Given the description of an element on the screen output the (x, y) to click on. 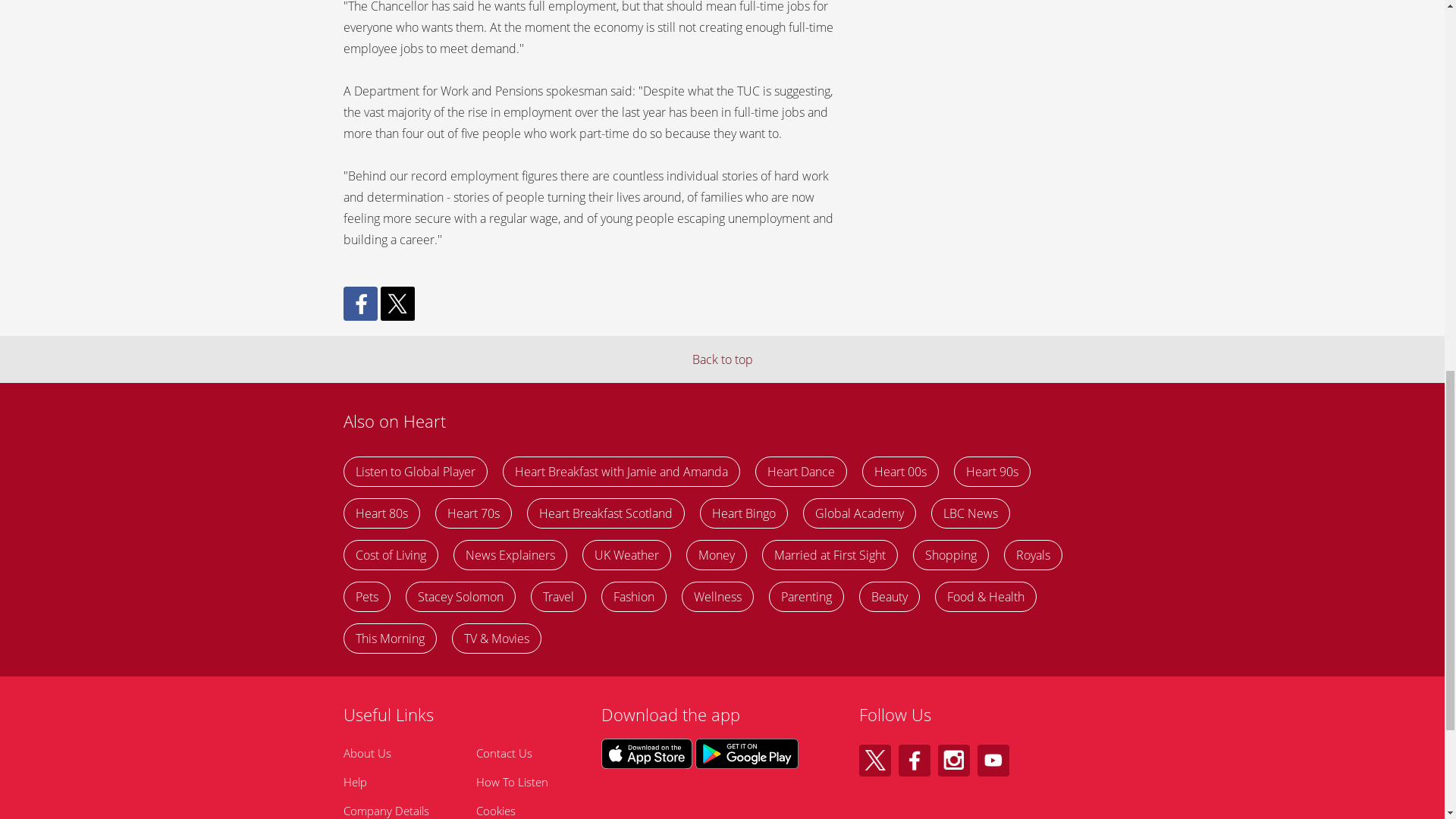
Follow Heart on Youtube (992, 760)
Follow Heart on Instagram (953, 760)
Follow Heart on X (874, 760)
Back to top (721, 359)
Follow Heart on Facebook (914, 760)
